Given the description of an element on the screen output the (x, y) to click on. 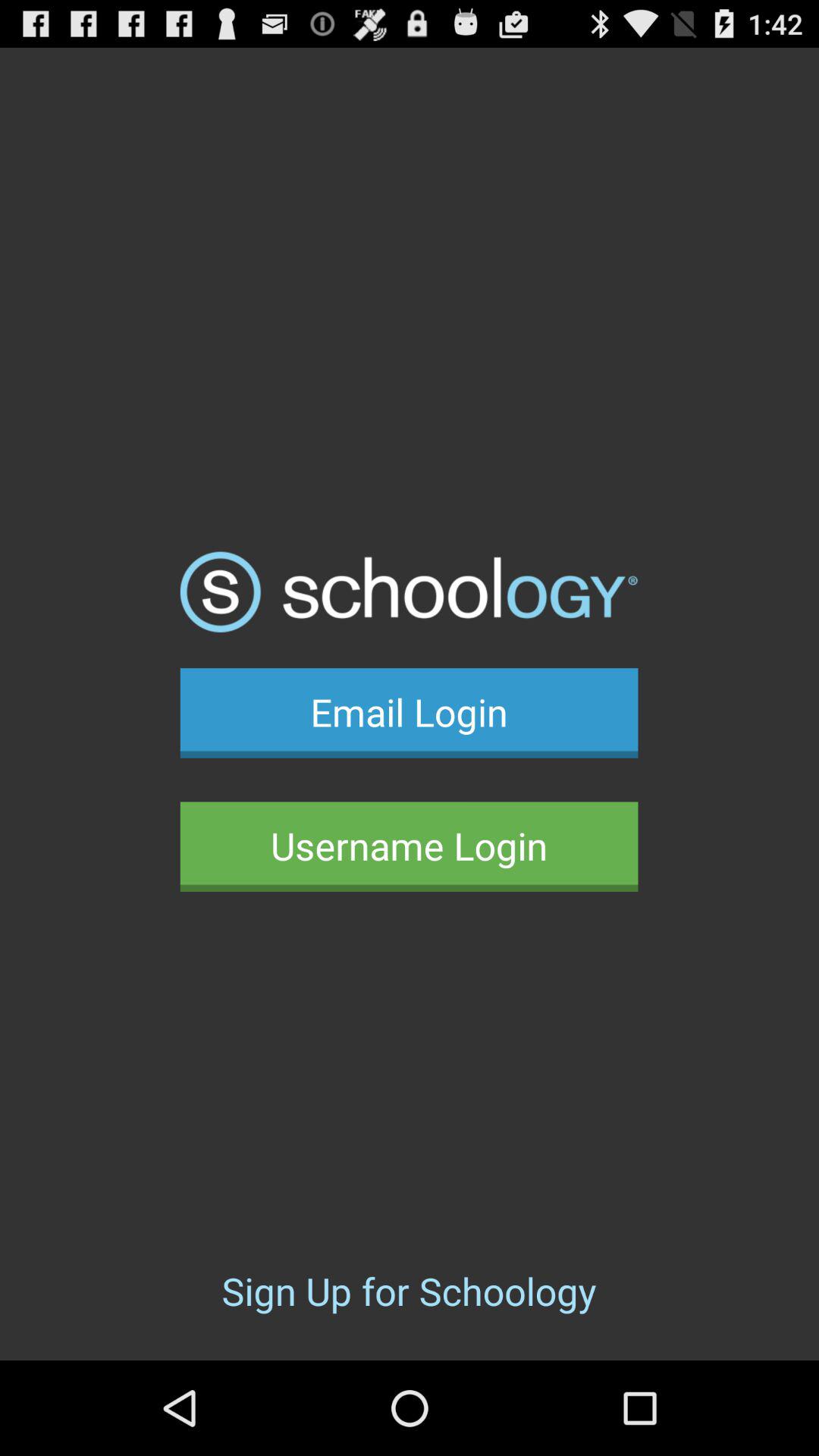
scroll to sign up for (408, 1290)
